Given the description of an element on the screen output the (x, y) to click on. 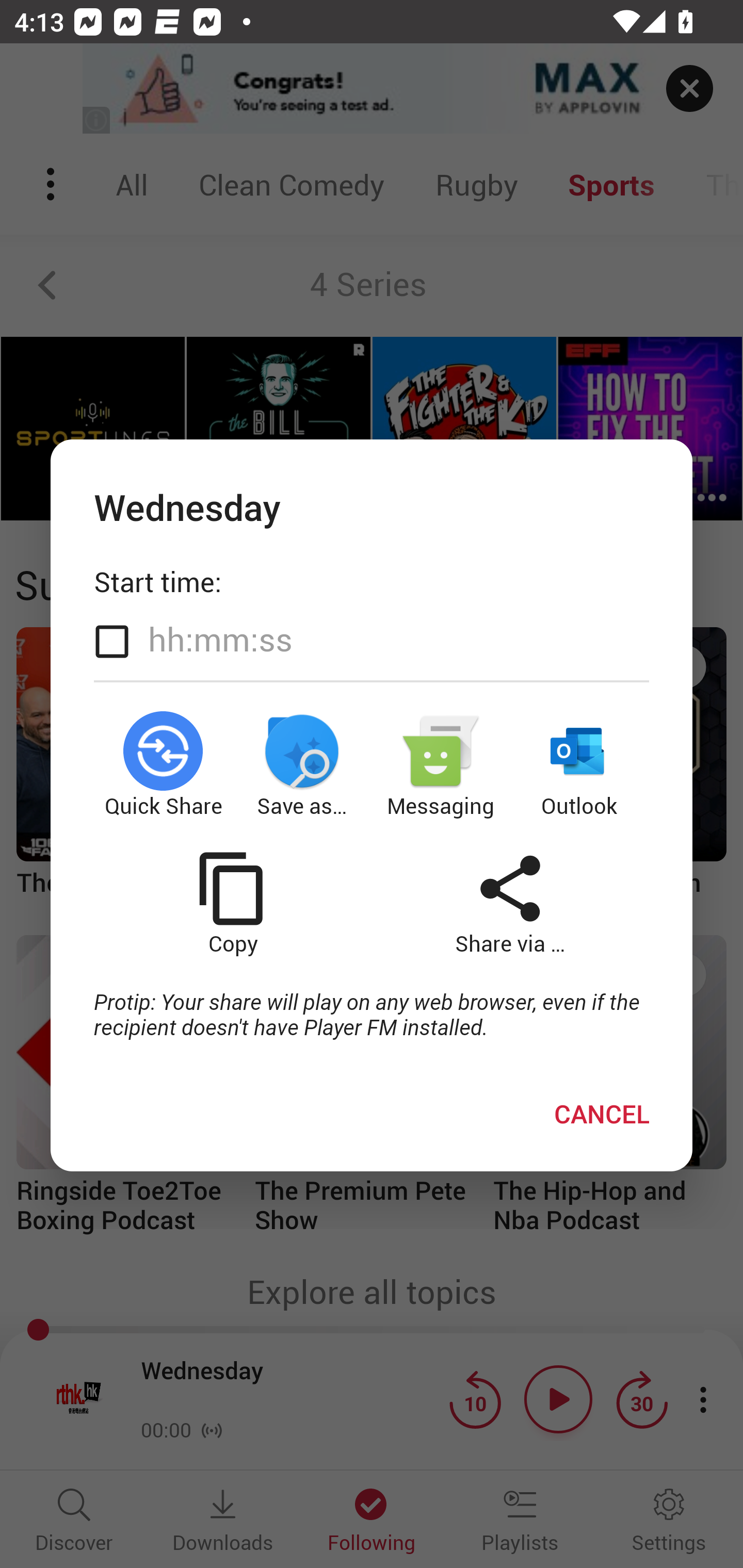
hh:mm:ss (220, 639)
Quick Share (163, 765)
Save as… (301, 765)
Messaging (440, 765)
Outlook (579, 765)
Copy (232, 903)
Share via … (509, 903)
CANCEL (600, 1113)
